Given the description of an element on the screen output the (x, y) to click on. 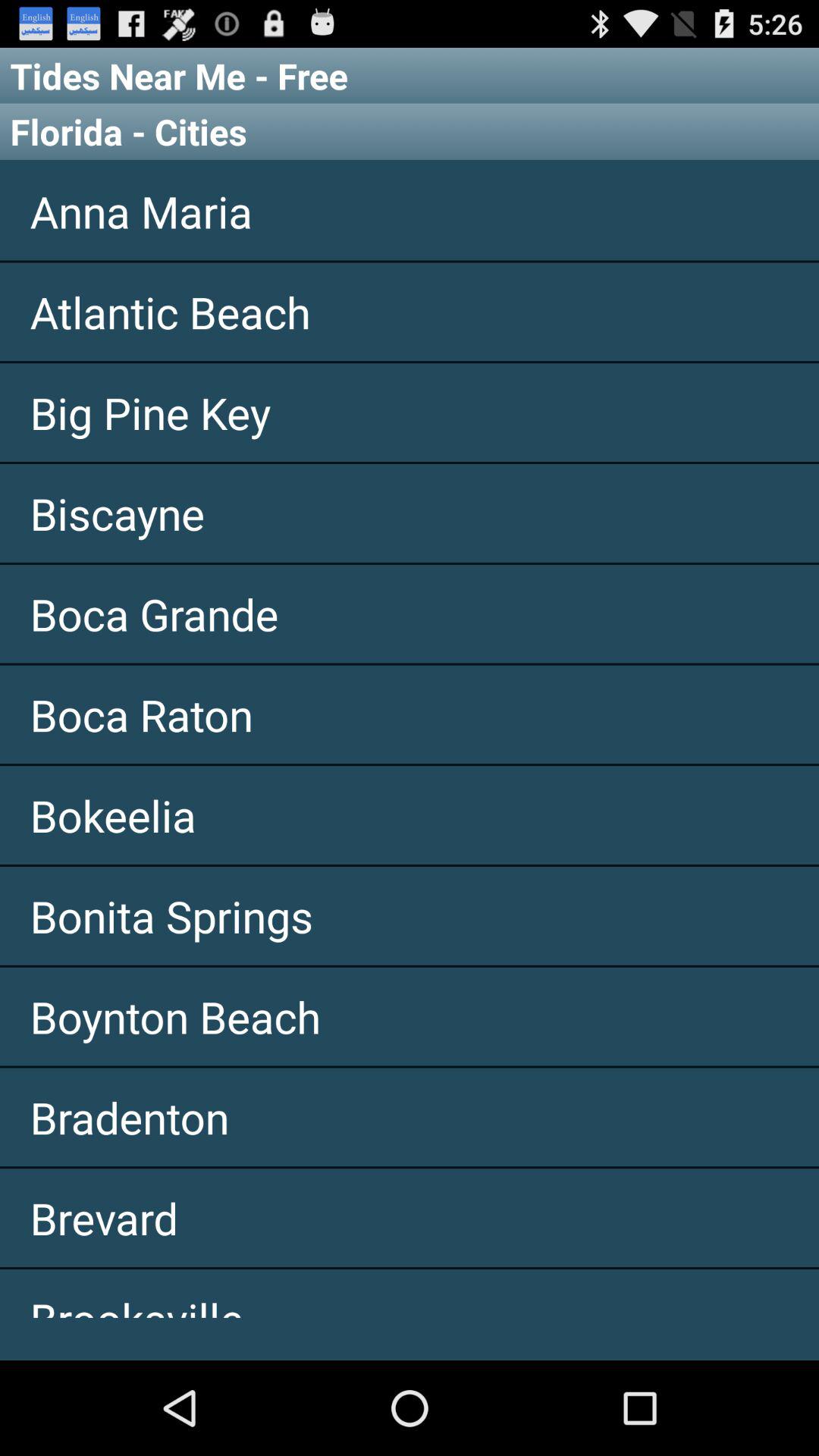
turn off the app below the bokeelia (409, 915)
